Given the description of an element on the screen output the (x, y) to click on. 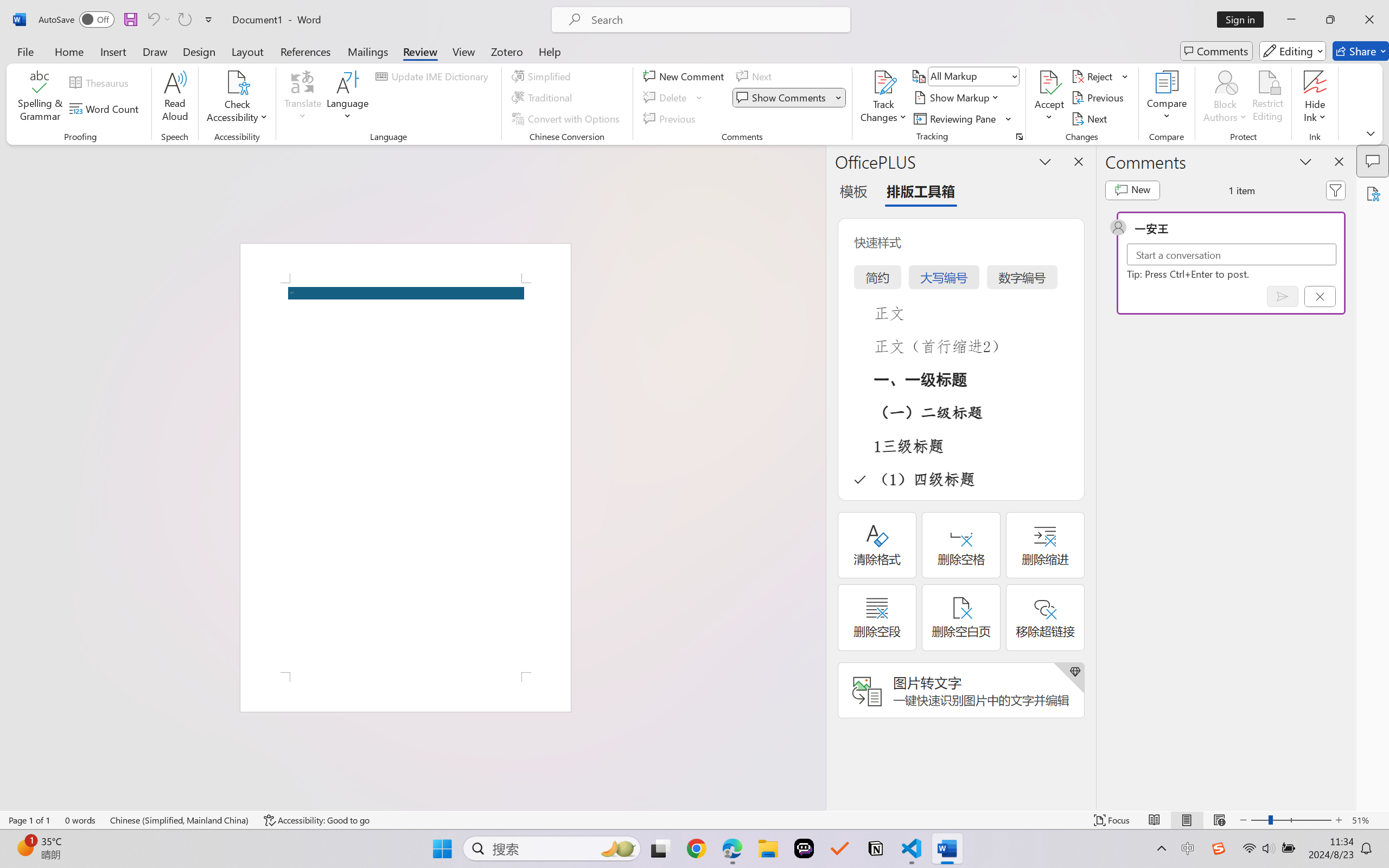
Check Accessibility (237, 97)
Accept and Move to Next (1049, 81)
Repeat Accessibility Checker (184, 19)
